Given the description of an element on the screen output the (x, y) to click on. 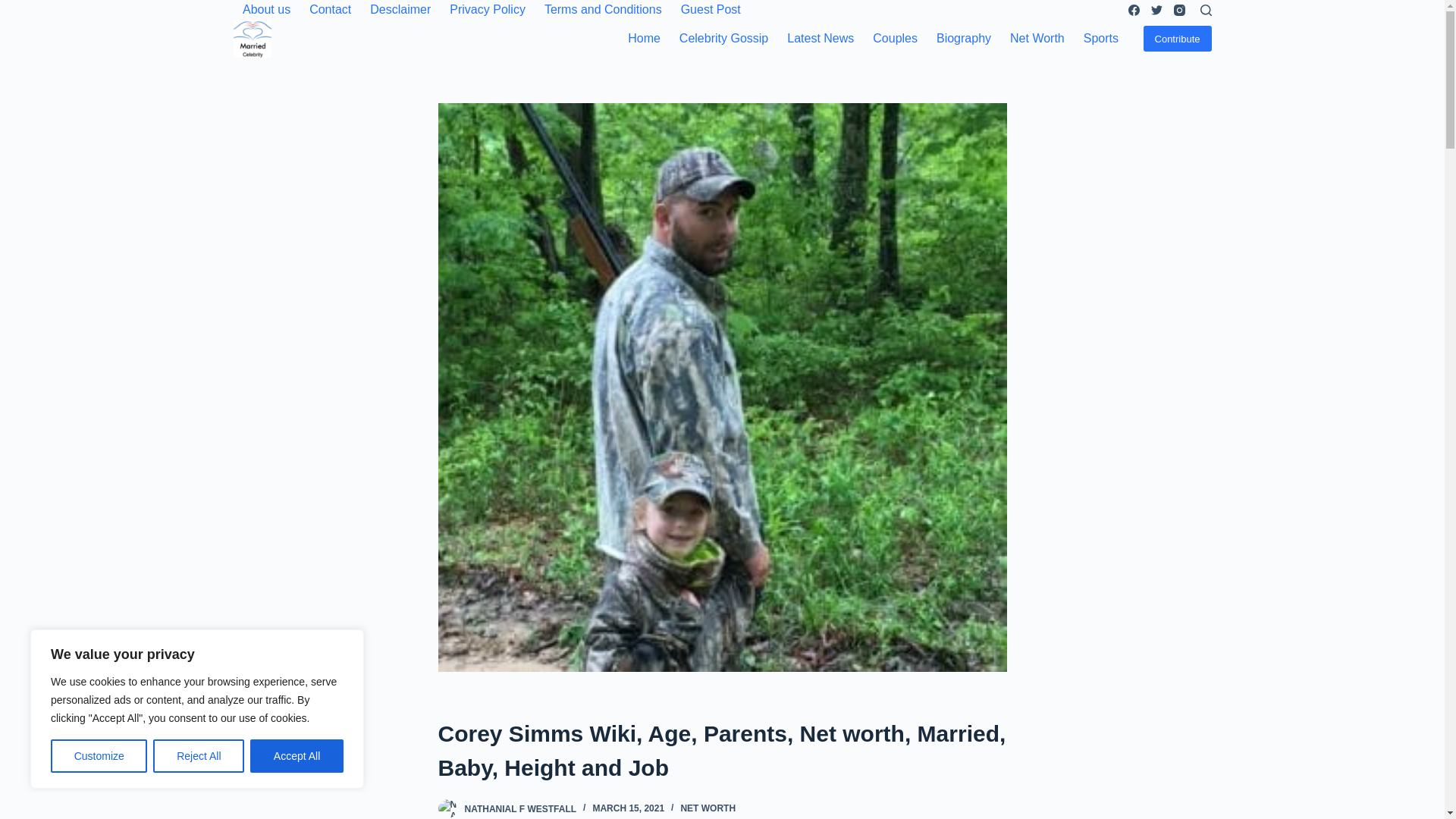
Customize (98, 756)
NET WORTH (707, 808)
Desclaimer (401, 9)
Net Worth (1037, 38)
croppedlogo3png Married Celebrity (251, 38)
Contribute (1176, 38)
Biography (963, 38)
Accept All (296, 756)
Sports (1100, 38)
Reject All (198, 756)
Contact (330, 9)
Latest News (820, 38)
Guest Post (710, 9)
NATHANIAL F WESTFALL (520, 808)
